Given the description of an element on the screen output the (x, y) to click on. 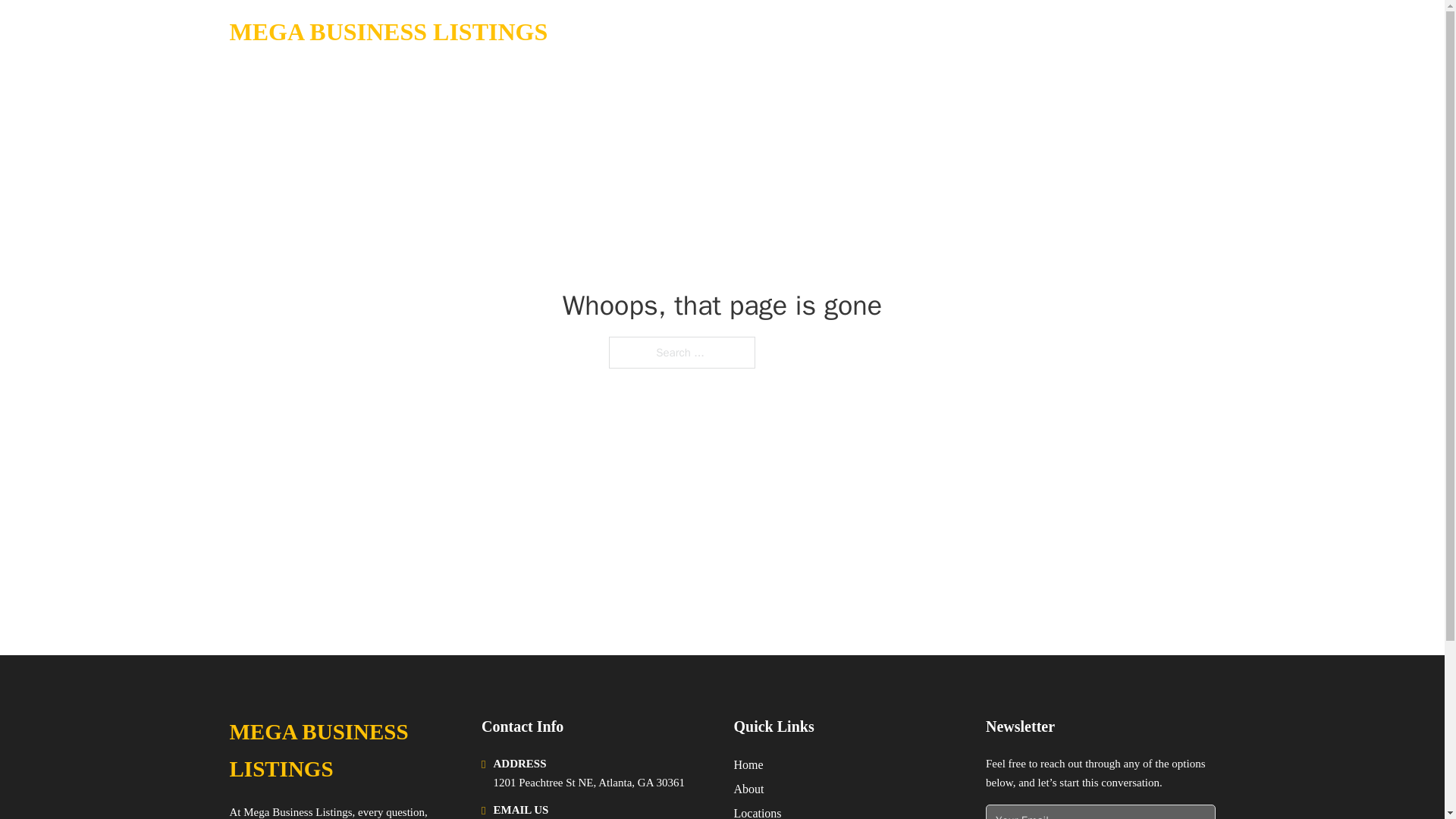
HOME (1025, 31)
MEGA BUSINESS LISTINGS (387, 31)
Locations (757, 811)
MEGA BUSINESS LISTINGS (343, 750)
About (748, 788)
LOCATIONS (1098, 31)
Home (747, 764)
